Given the description of an element on the screen output the (x, y) to click on. 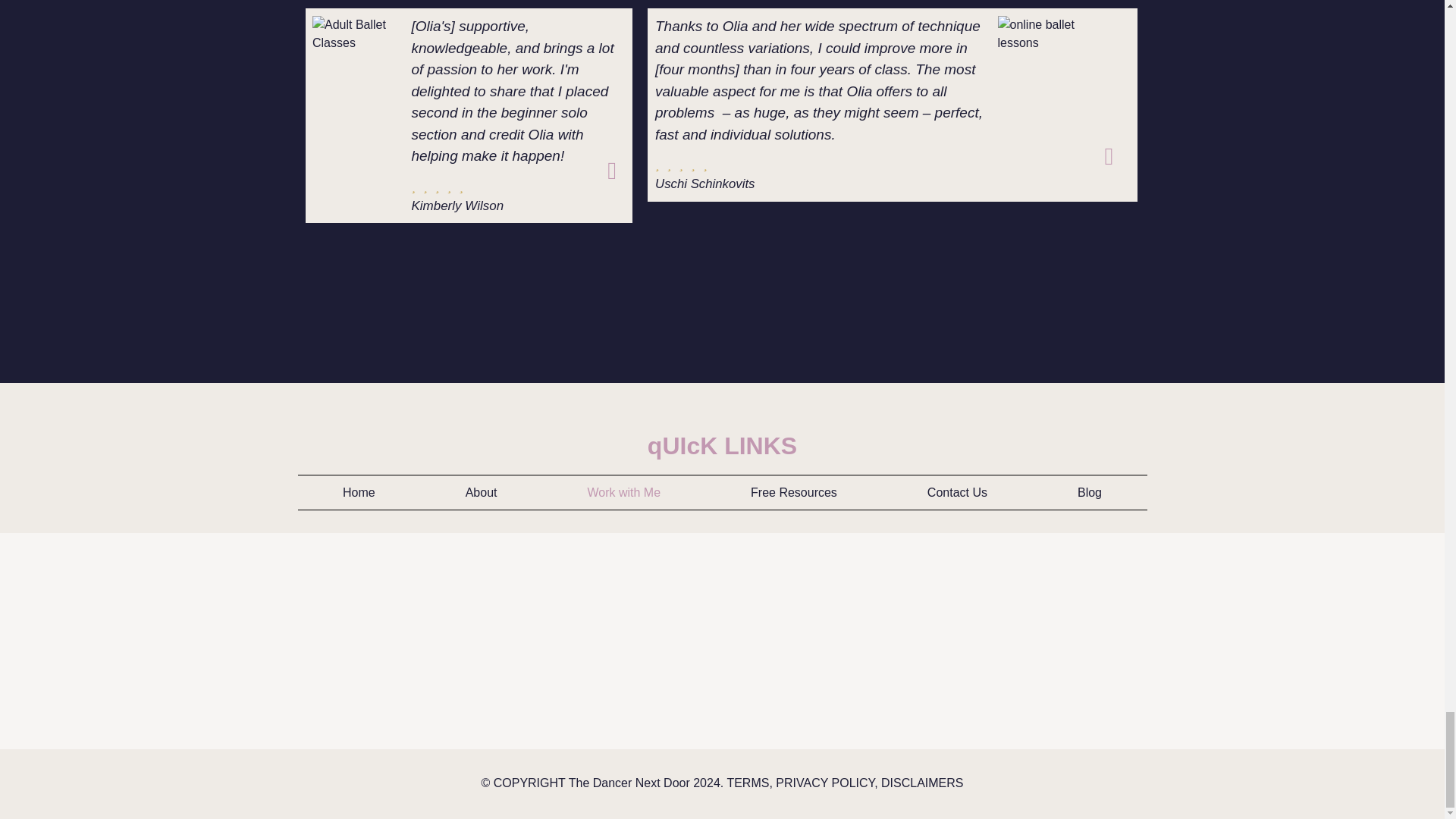
Home (358, 492)
About (480, 492)
